Given the description of an element on the screen output the (x, y) to click on. 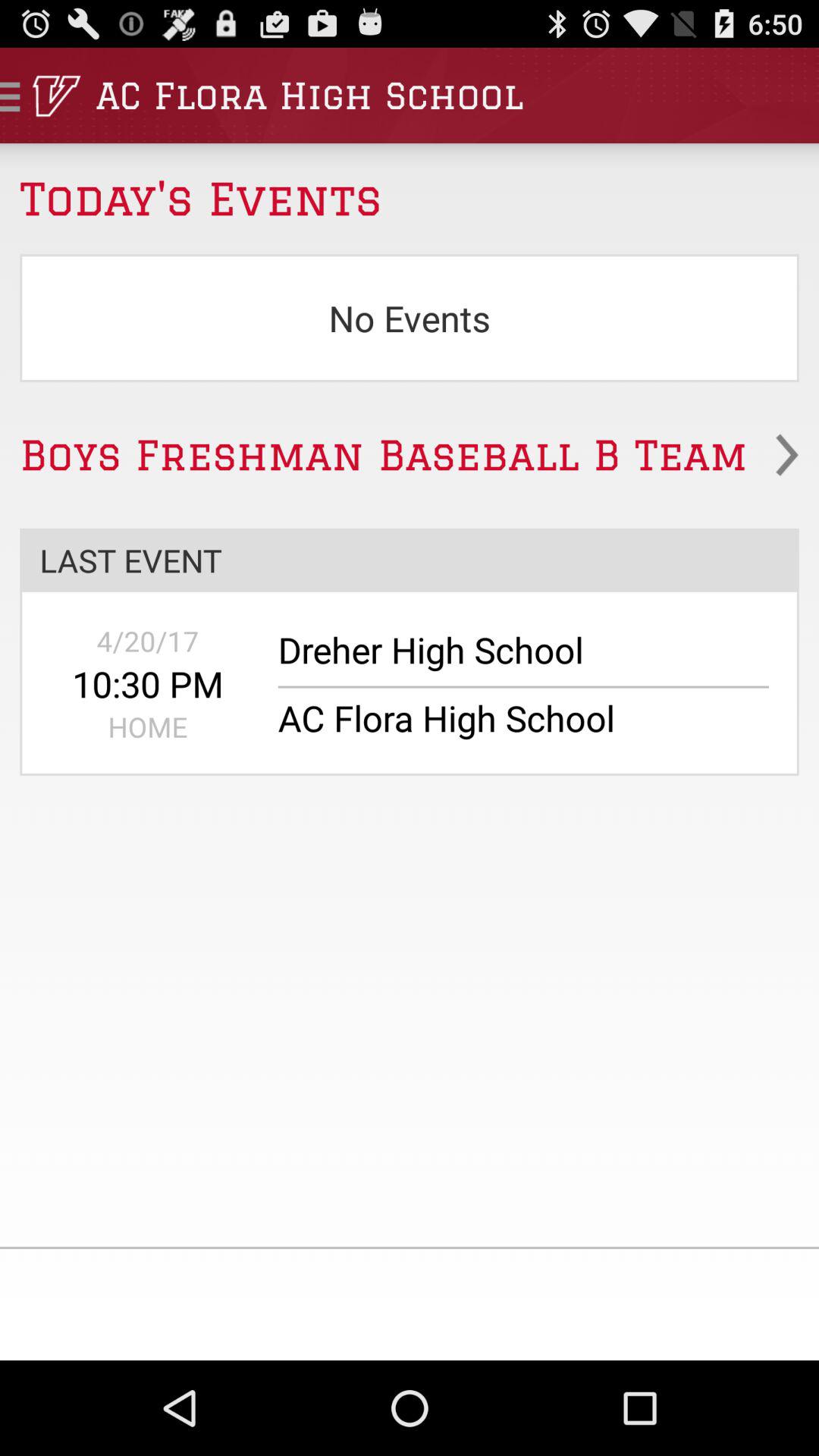
turn off icon below the last event (147, 640)
